Given the description of an element on the screen output the (x, y) to click on. 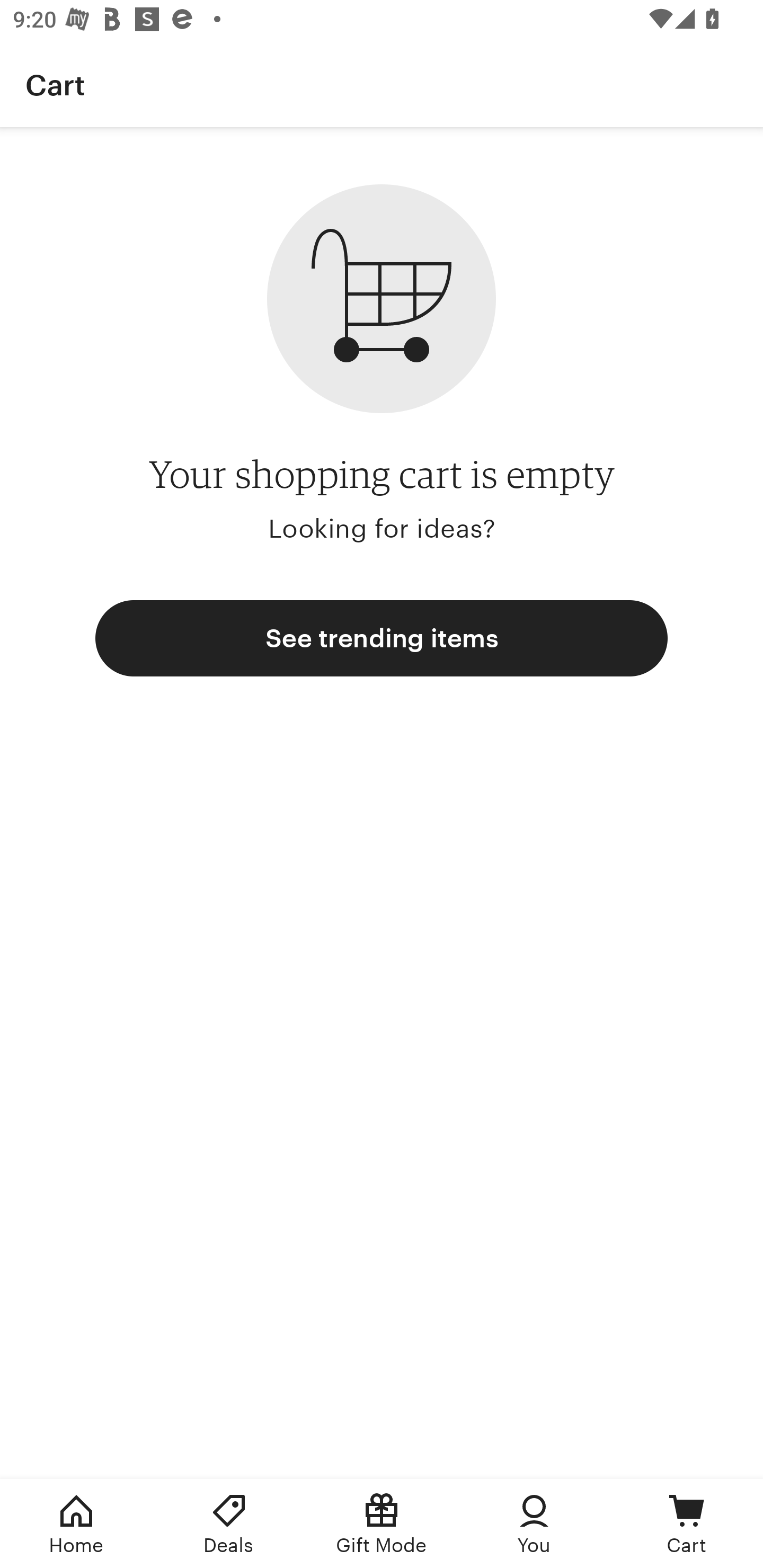
See trending items (381, 637)
Home (76, 1523)
Deals (228, 1523)
Gift Mode (381, 1523)
You (533, 1523)
